Given the description of an element on the screen output the (x, y) to click on. 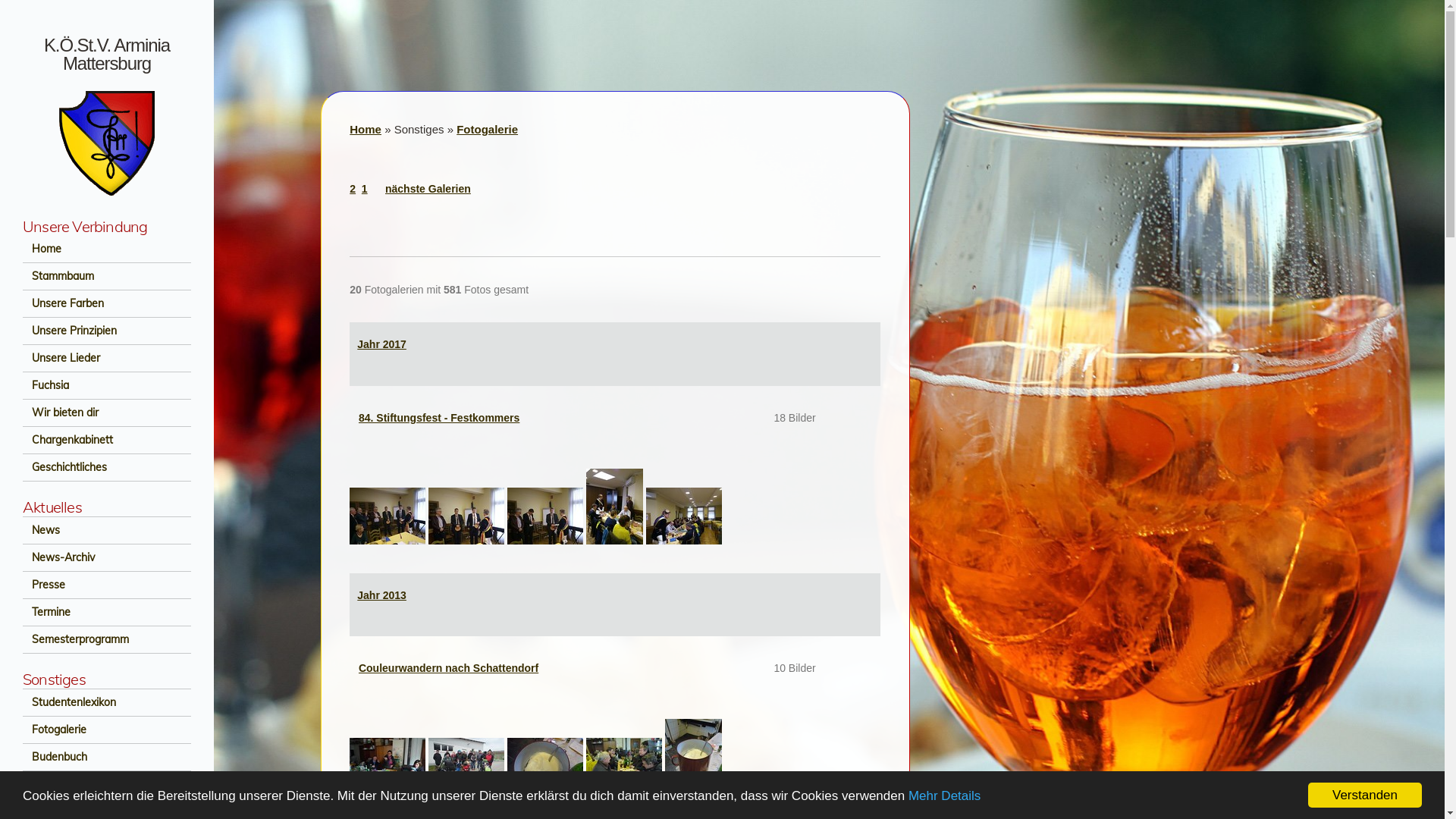
Jahr 2013 Element type: text (381, 595)
84. Stiftungsfest - Festkommers Element type: text (438, 417)
2 Element type: text (352, 188)
   Stammbaum Element type: text (106, 276)
   Chargenkabinett Element type: text (106, 439)
   Fuchsia Element type: text (106, 385)
   Presse Element type: text (106, 584)
   Termine Element type: text (106, 612)
Home Element type: text (365, 128)
   News Element type: text (106, 530)
Jahr 2017 Element type: text (381, 344)
Couleurwandern nach Schattendorf Element type: text (448, 668)
1 Element type: text (364, 188)
   Unsere Prinzipien Element type: text (106, 330)
   Links Element type: text (106, 784)
   News-Archiv Element type: text (106, 557)
   Studentenlexikon Element type: text (106, 702)
Fotogalerie Element type: text (486, 128)
   Unsere Farben Element type: text (106, 303)
   Wir bieten dir Element type: text (106, 412)
Verstanden Element type: text (1364, 794)
   Unsere Lieder Element type: text (106, 358)
   Fotogalerie Element type: text (106, 729)
Mehr Details Element type: text (944, 795)
   Semesterprogramm Element type: text (106, 639)
   Home Element type: text (106, 248)
   Budenbuch Element type: text (106, 756)
   Geschichtliches Element type: text (106, 467)
